Given the description of an element on the screen output the (x, y) to click on. 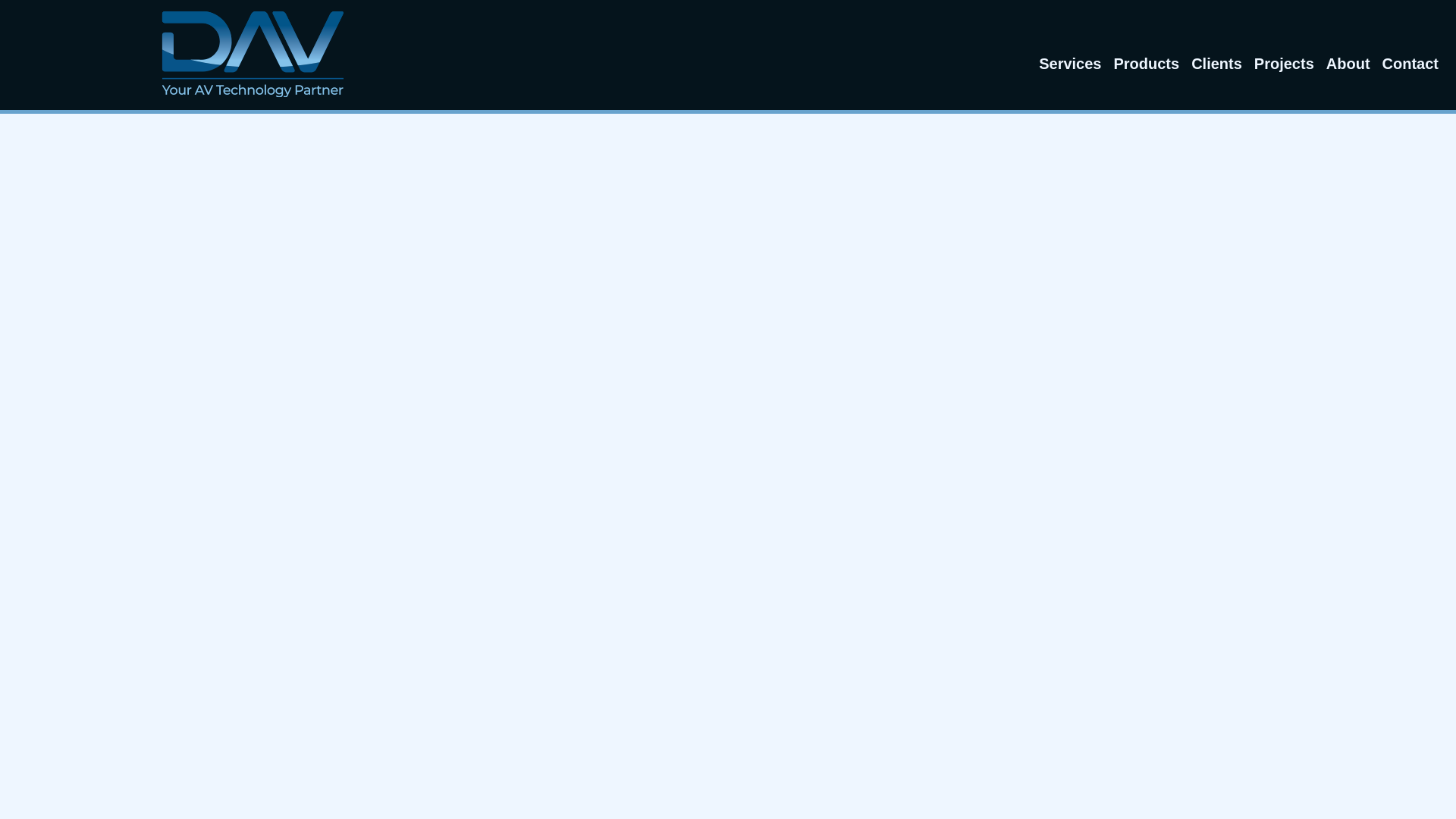
About (1347, 64)
Services (1069, 64)
Contact (1409, 64)
Clients (1216, 64)
Projects (1283, 64)
Products (1145, 64)
